Given the description of an element on the screen output the (x, y) to click on. 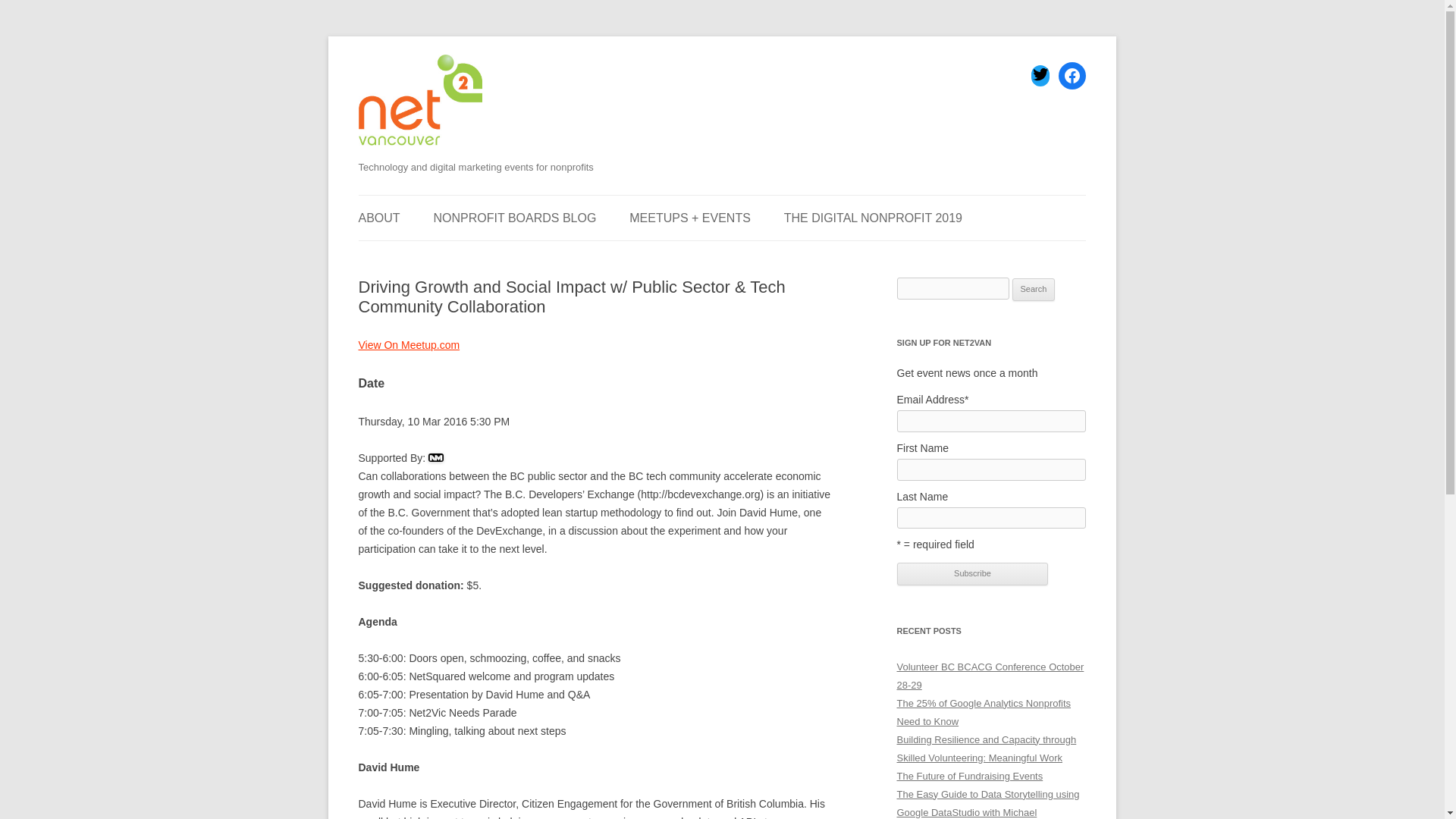
View On Meetup.com (409, 345)
Search (1033, 289)
SUGGEST AN EVENT (433, 255)
NONPROFIT BOARDS BLOG (514, 217)
ABOUT (378, 217)
Subscribe (972, 573)
THE DIGITAL NONPROFIT 2019 (873, 217)
Volunteer BC BCACG Conference October 28-29 (989, 675)
